Given the description of an element on the screen output the (x, y) to click on. 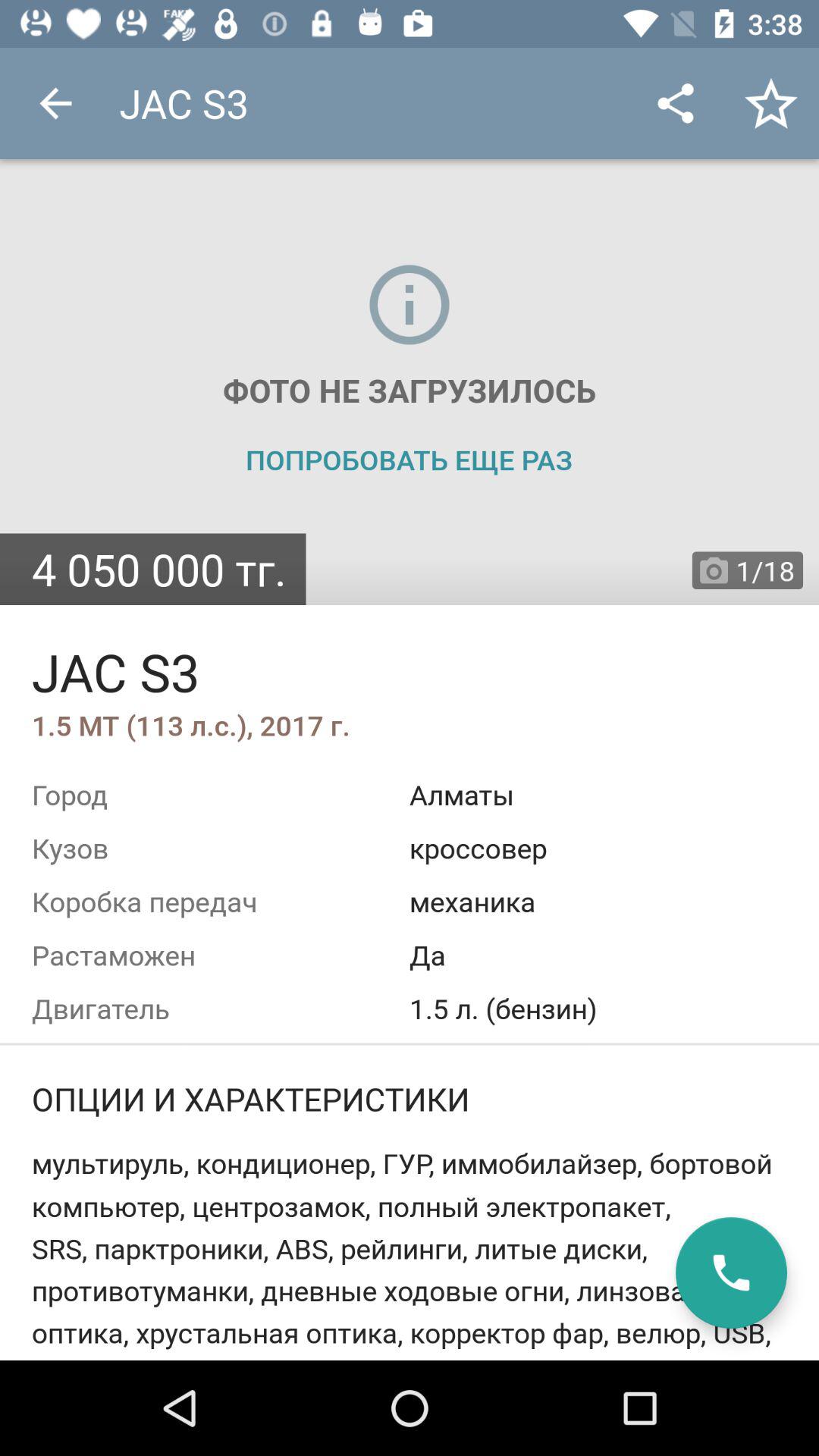
click the app to the right of jac s3 icon (675, 103)
